Given the description of an element on the screen output the (x, y) to click on. 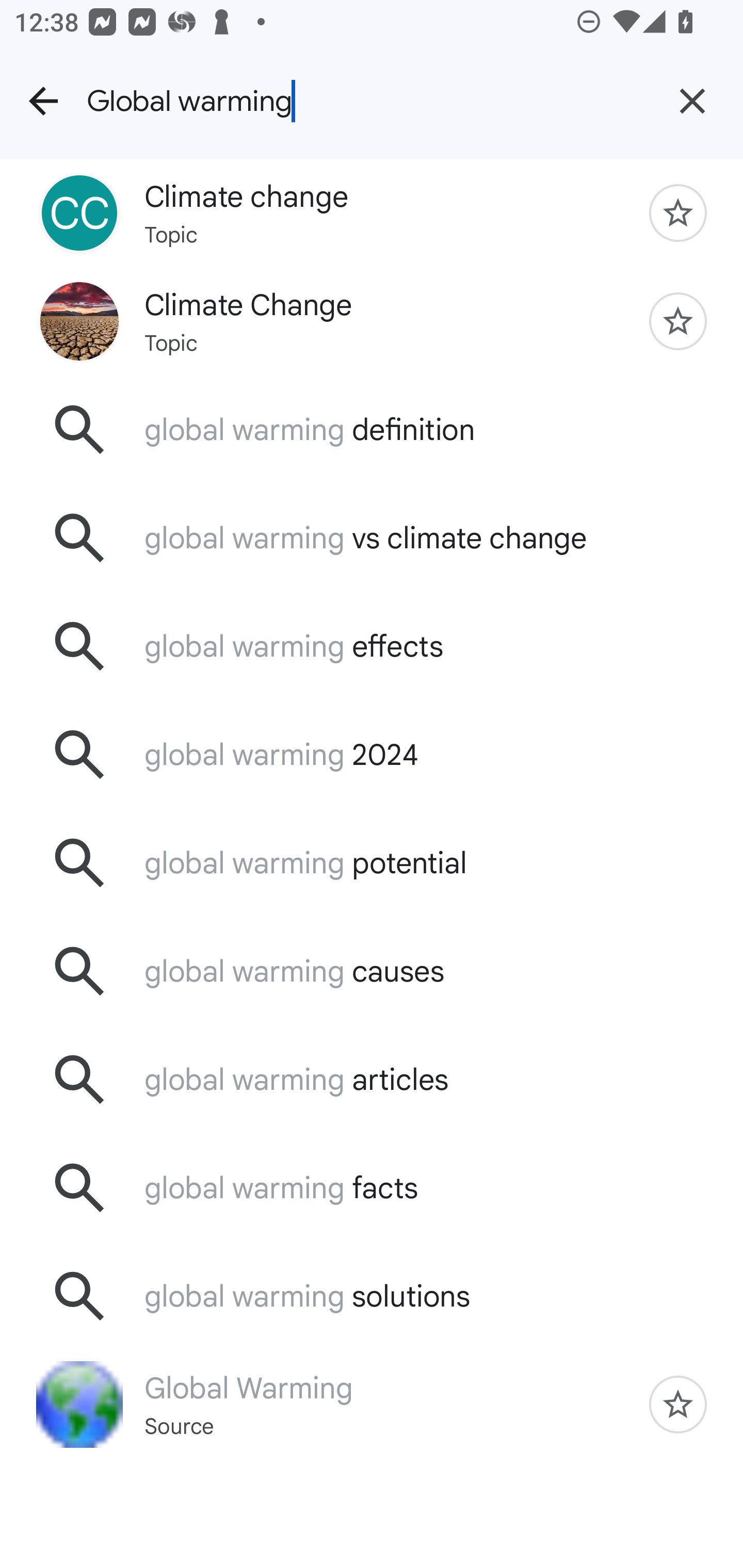
Back (43, 101)
Global warming (363, 101)
Clear text (692, 101)
C‌C Climate change Topic Follow (371, 212)
Follow (677, 212)
Climate Change Topic Follow (371, 320)
Follow (677, 321)
global warming definition (371, 429)
global warming vs climate change (371, 538)
global warming effects (371, 646)
global warming 2024 (371, 754)
global warming potential (371, 863)
global warming causes (371, 971)
global warming articles (371, 1079)
global warming facts (371, 1187)
global warming solutions (371, 1295)
Global Warming Source Follow (371, 1404)
Follow (677, 1404)
